Given the description of an element on the screen output the (x, y) to click on. 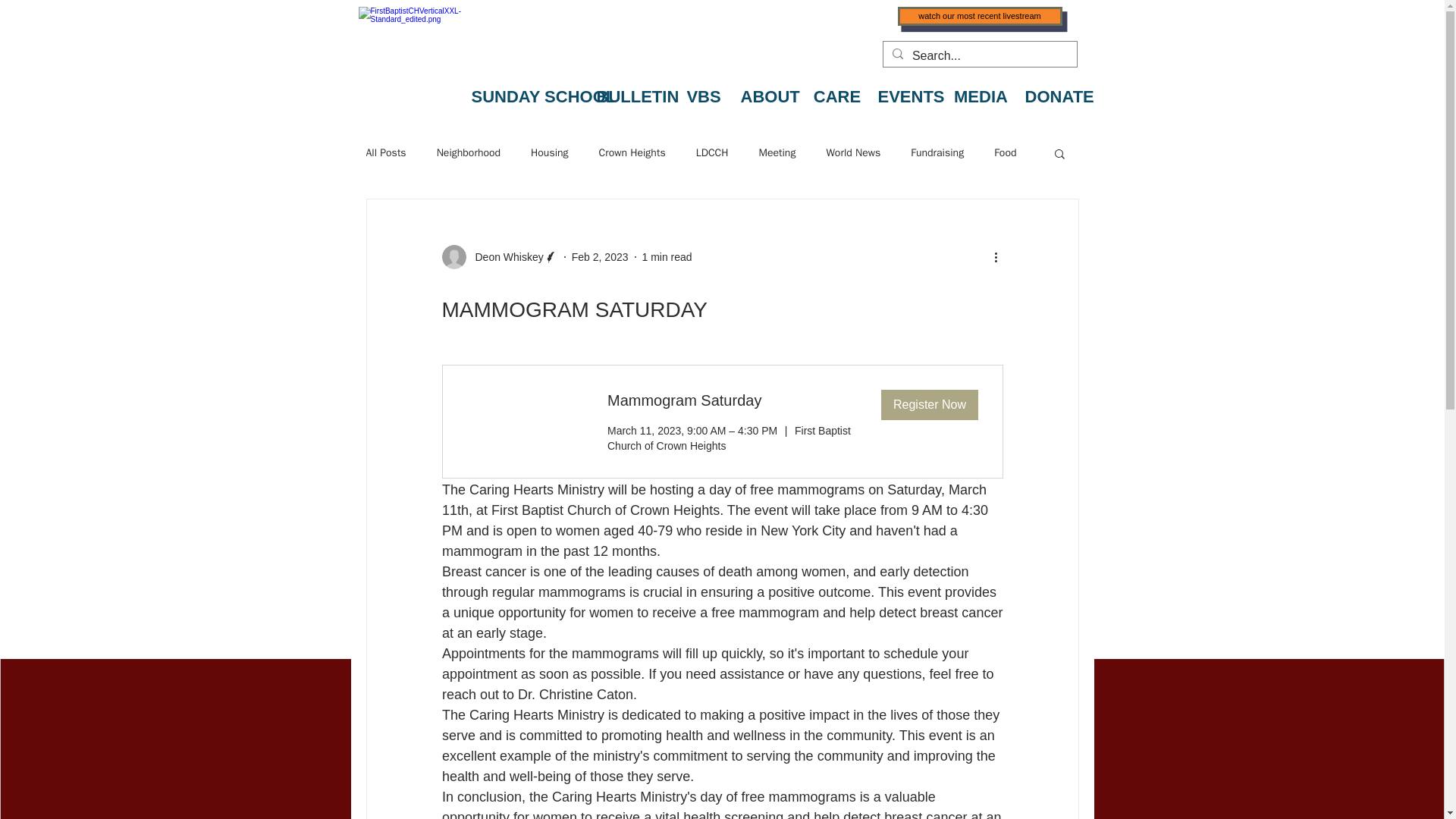
watch our most recent livestream (980, 15)
All Posts (385, 152)
LDCCH (712, 152)
Feb 2, 2023 (600, 256)
EVENTS (906, 89)
Neighborhood (468, 152)
Deon Whiskey (504, 256)
BULLETIN (631, 89)
Fundraising (937, 152)
CARE (837, 89)
1 min read (666, 256)
MEDIA (980, 89)
Crown Heights (631, 152)
ABOUT (768, 89)
Housing (550, 152)
